Given the description of an element on the screen output the (x, y) to click on. 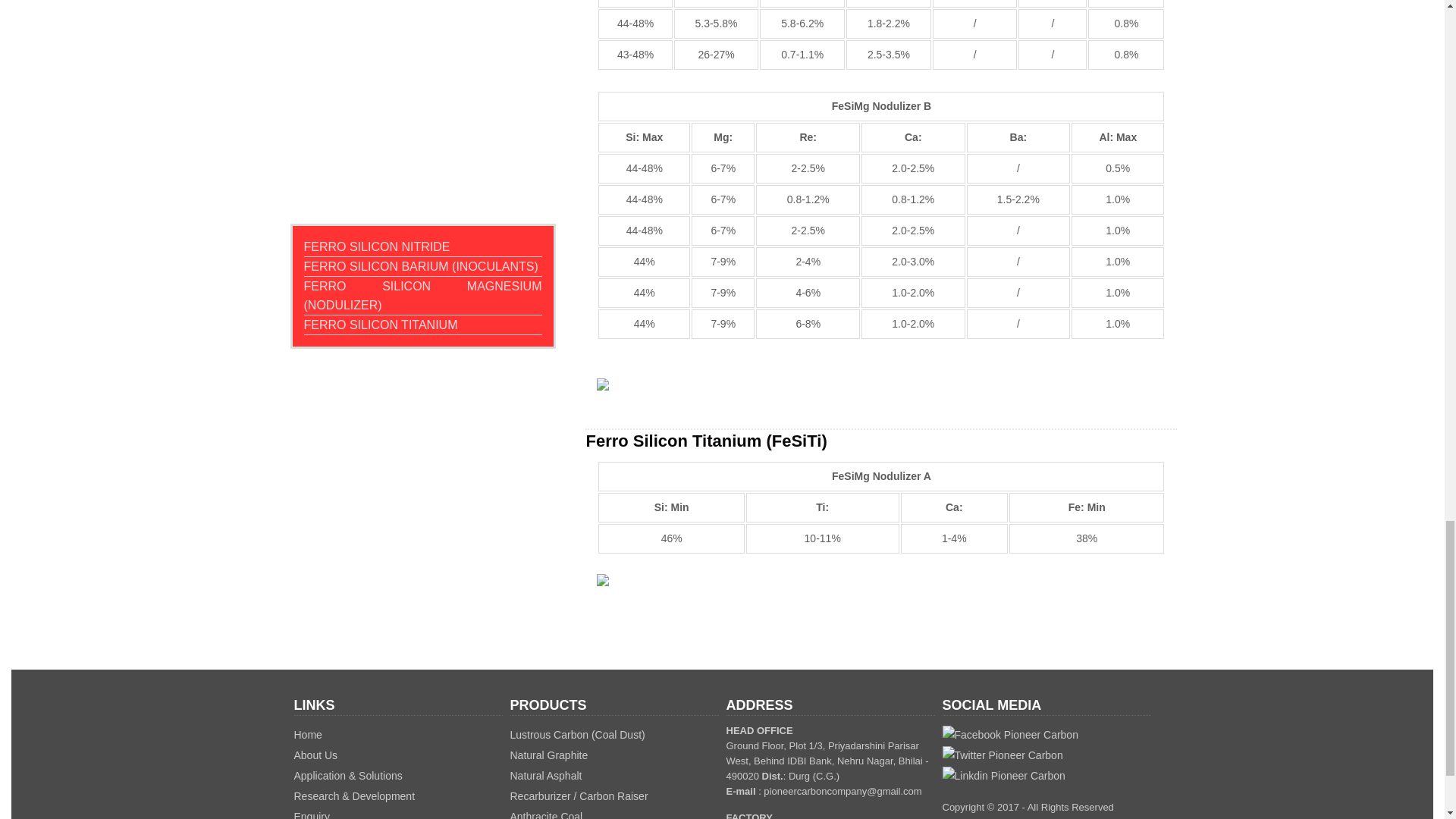
Natural Asphalt (544, 775)
About Us (315, 755)
Home (307, 734)
Natural Graphite (548, 755)
Enquiry (312, 814)
